Given the description of an element on the screen output the (x, y) to click on. 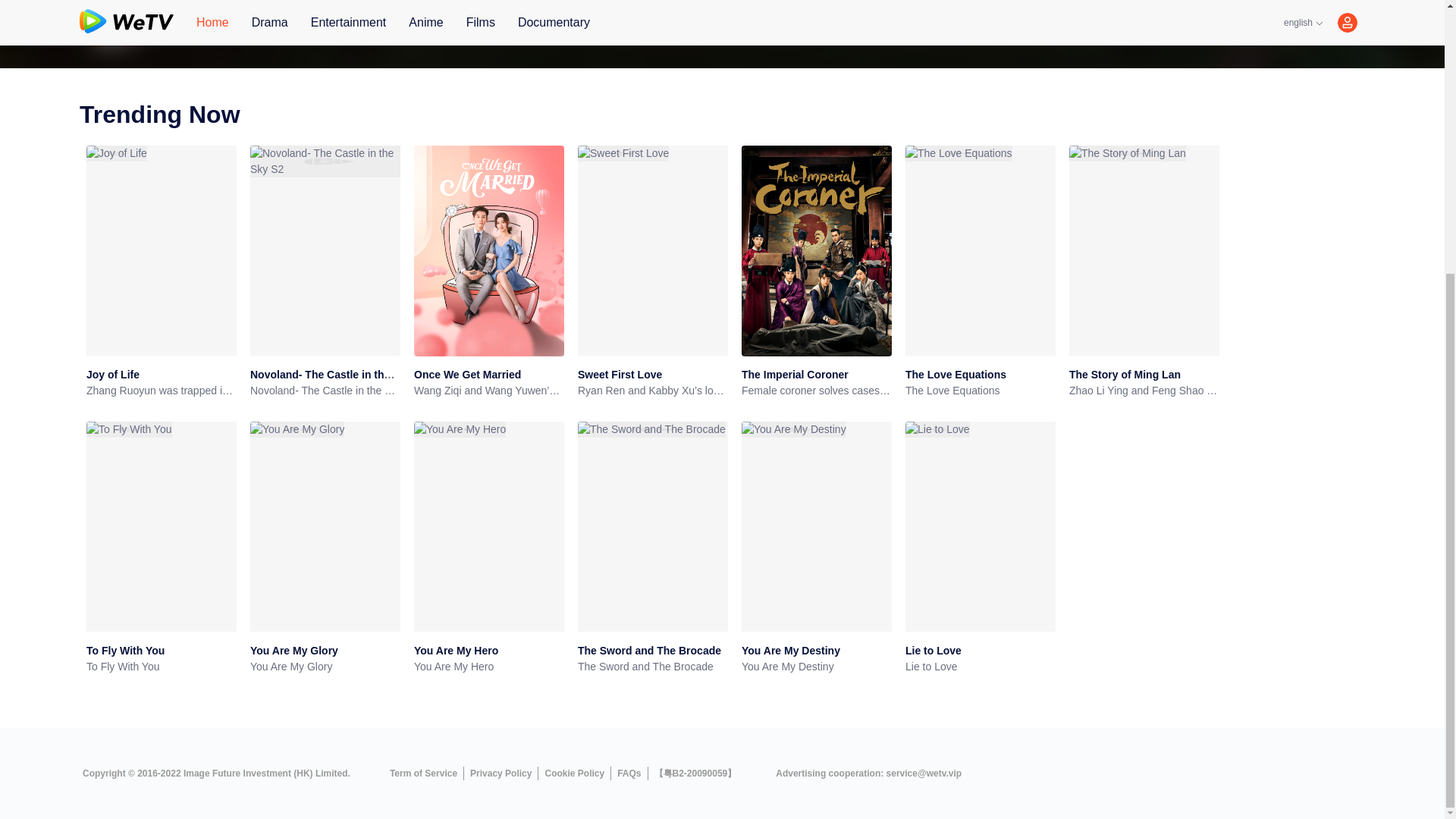
Once We Get Married (467, 374)
Female coroner solves cases with conservative lord (816, 390)
Zhang Ruoyun was trapped in court with a risky life (160, 390)
Novoland- The Castle in the Sky S2 (339, 374)
The Imperial Coroner (794, 374)
You Are My Glory (293, 650)
The Love Equations (955, 374)
Joy of Life (112, 374)
Once We Get Married (467, 374)
Sweet First Love (620, 374)
Be With You (833, 33)
Joy of Life (112, 374)
The Story of Ming Lan (1124, 374)
Cute Programmer (1001, 33)
Novoland- The Castle in the Sky S2 (339, 374)
